Given the description of an element on the screen output the (x, y) to click on. 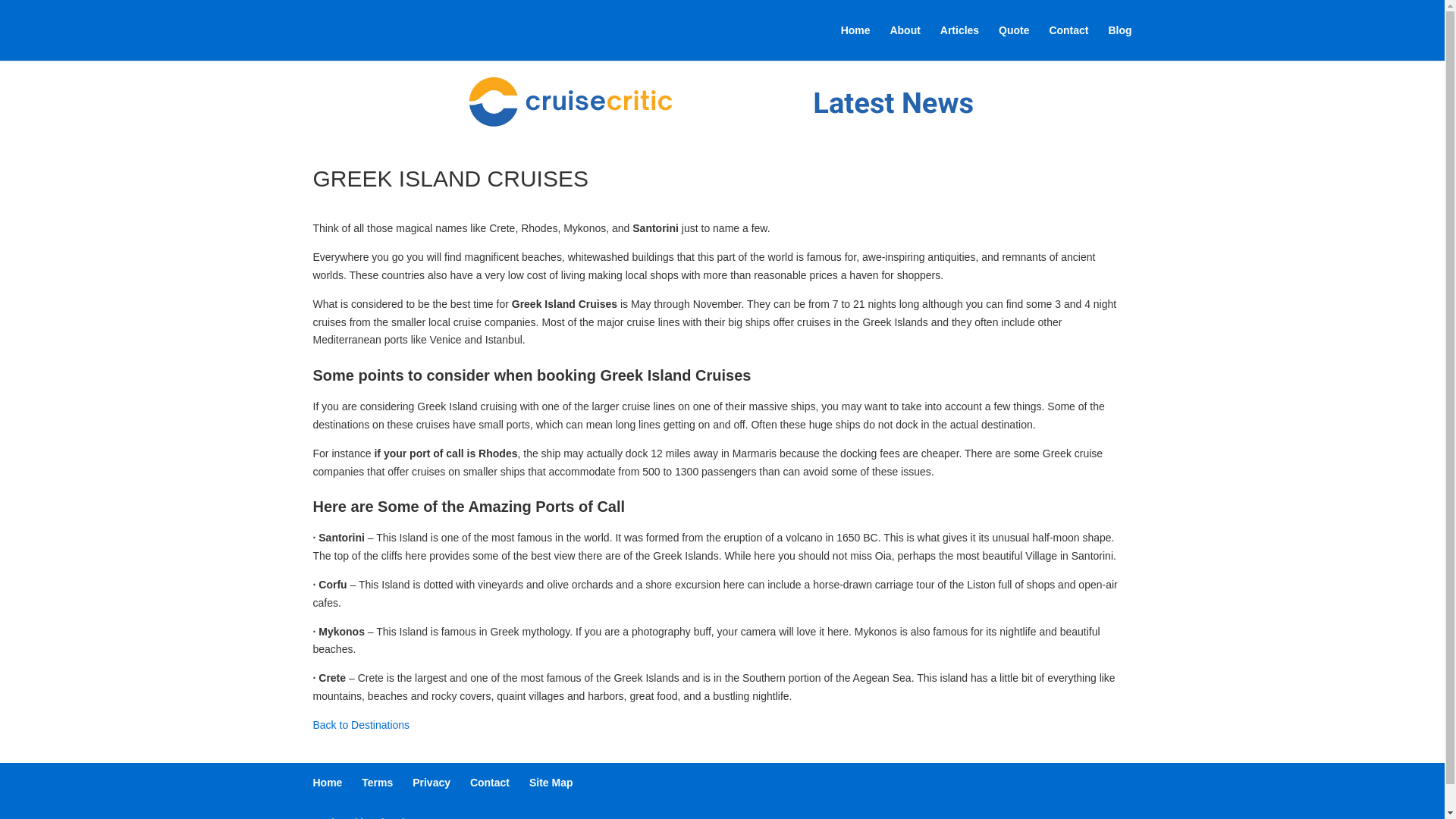
Articles (959, 42)
Virtualeap (398, 817)
Privacy (430, 782)
Contact (1067, 42)
Contact (489, 782)
Terms (377, 782)
Site Map (551, 782)
Home (327, 782)
Back to Destinations (361, 725)
